Given the description of an element on the screen output the (x, y) to click on. 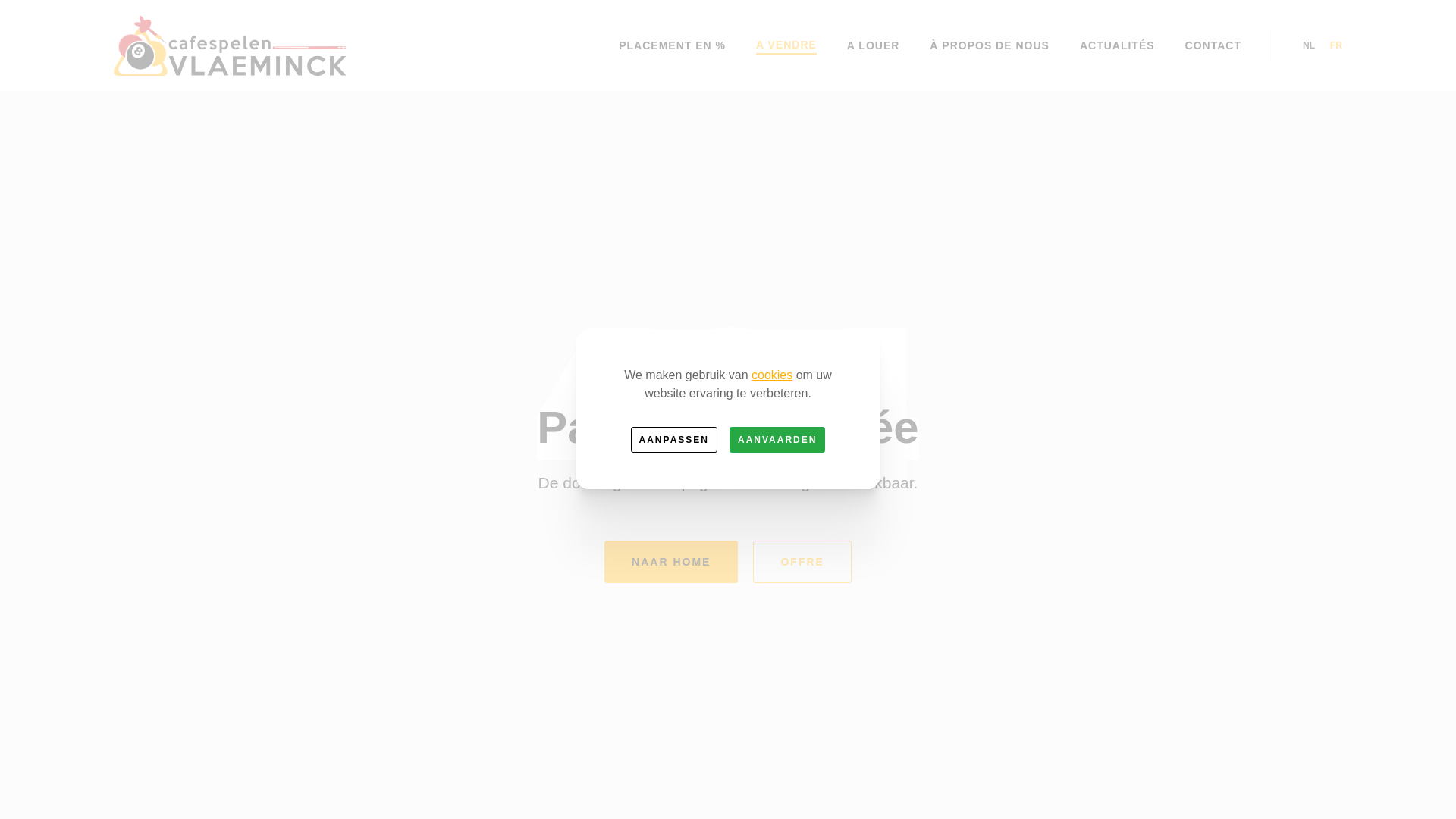
NAAR HOME Element type: text (670, 560)
CONTACT Element type: text (1213, 44)
A LOUER Element type: text (872, 44)
AANVAARDEN Element type: text (777, 439)
AANPASSEN Element type: text (673, 439)
PLACEMENT EN % Element type: text (671, 44)
A VENDRE Element type: text (785, 45)
NL Element type: text (1308, 45)
cookies Element type: text (771, 374)
FR Element type: text (1335, 45)
OFFRE Element type: text (801, 560)
